Given the description of an element on the screen output the (x, y) to click on. 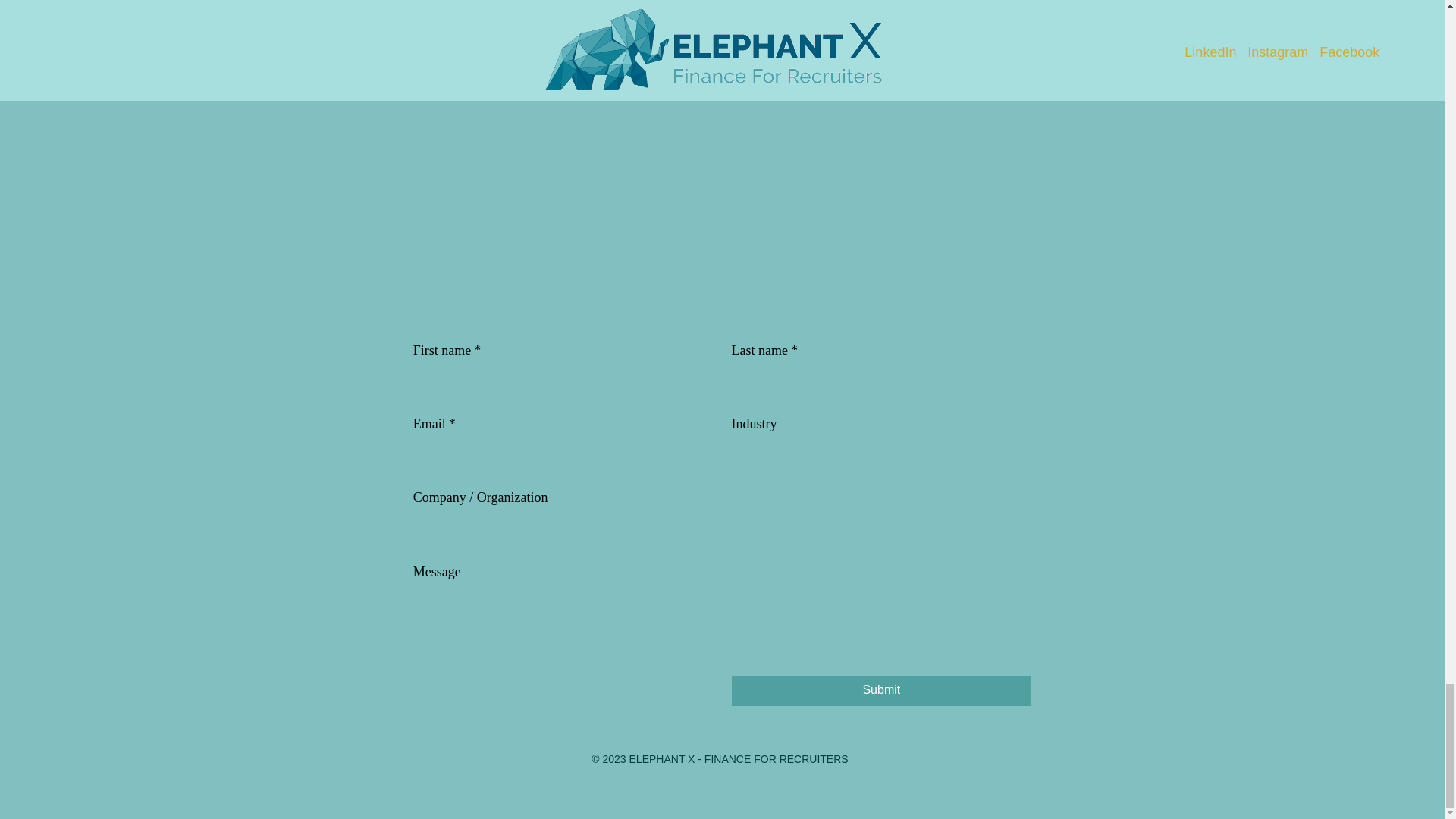
Submit (880, 690)
